Given the description of an element on the screen output the (x, y) to click on. 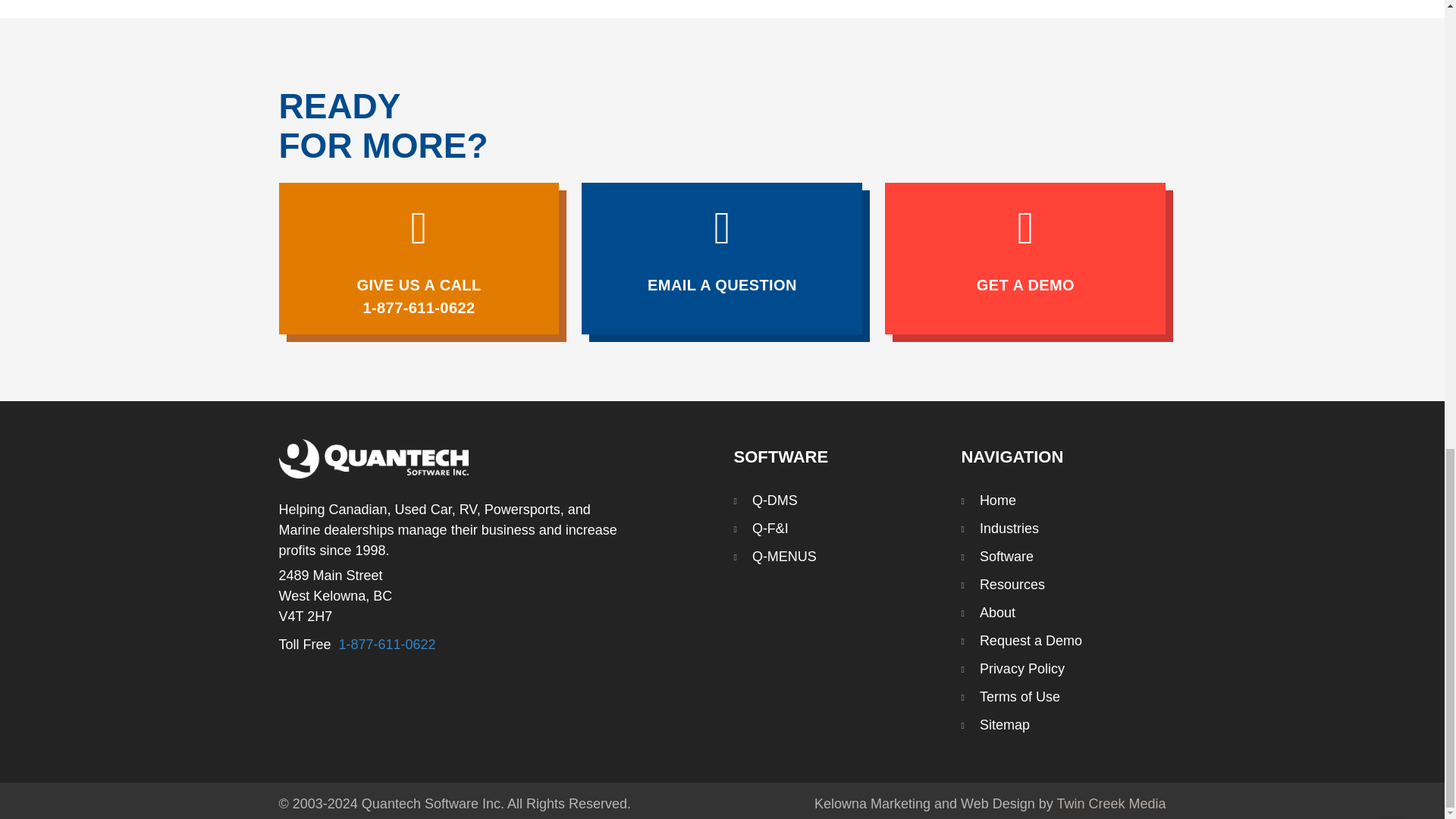
Q-DMS (764, 500)
